Given the description of an element on the screen output the (x, y) to click on. 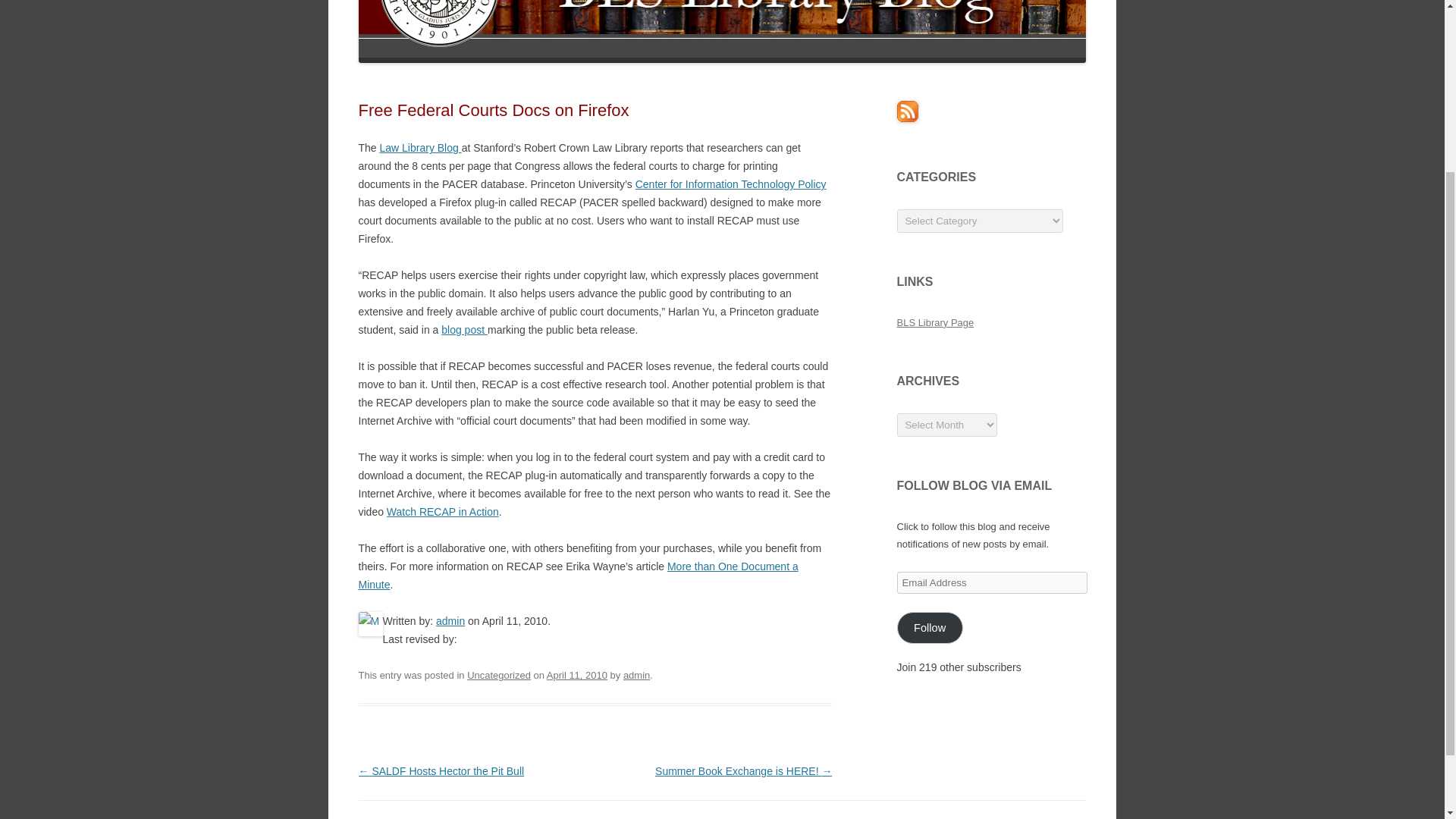
View all posts by admin (636, 674)
admin (449, 621)
Watch RECAP in Action (443, 511)
Uncategorized (499, 674)
Subscribe to posts (906, 118)
April 11, 2010 (577, 674)
More about admin  (449, 621)
Law Library Blog (420, 147)
More than One Document a Minute (577, 575)
10:47 pm (577, 674)
